Given the description of an element on the screen output the (x, y) to click on. 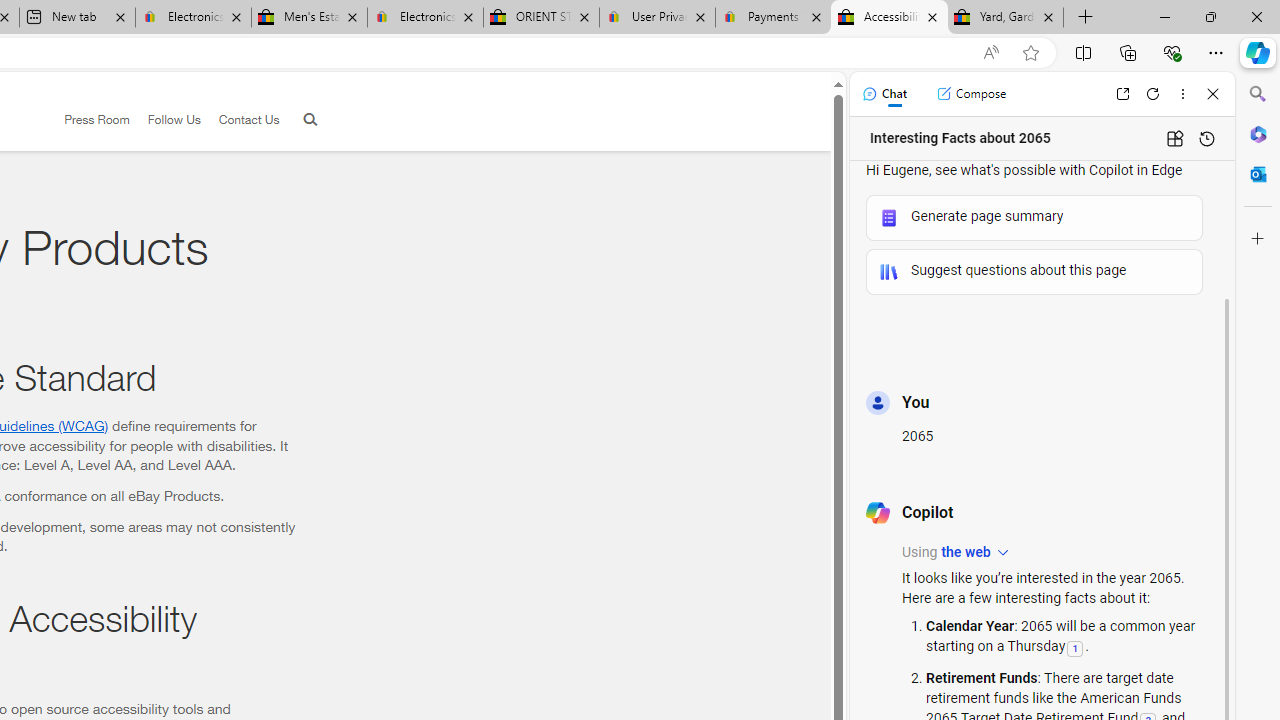
Accessibility - eBay Inc. (889, 17)
Follow Us (164, 120)
Follow Us (173, 119)
